Given the description of an element on the screen output the (x, y) to click on. 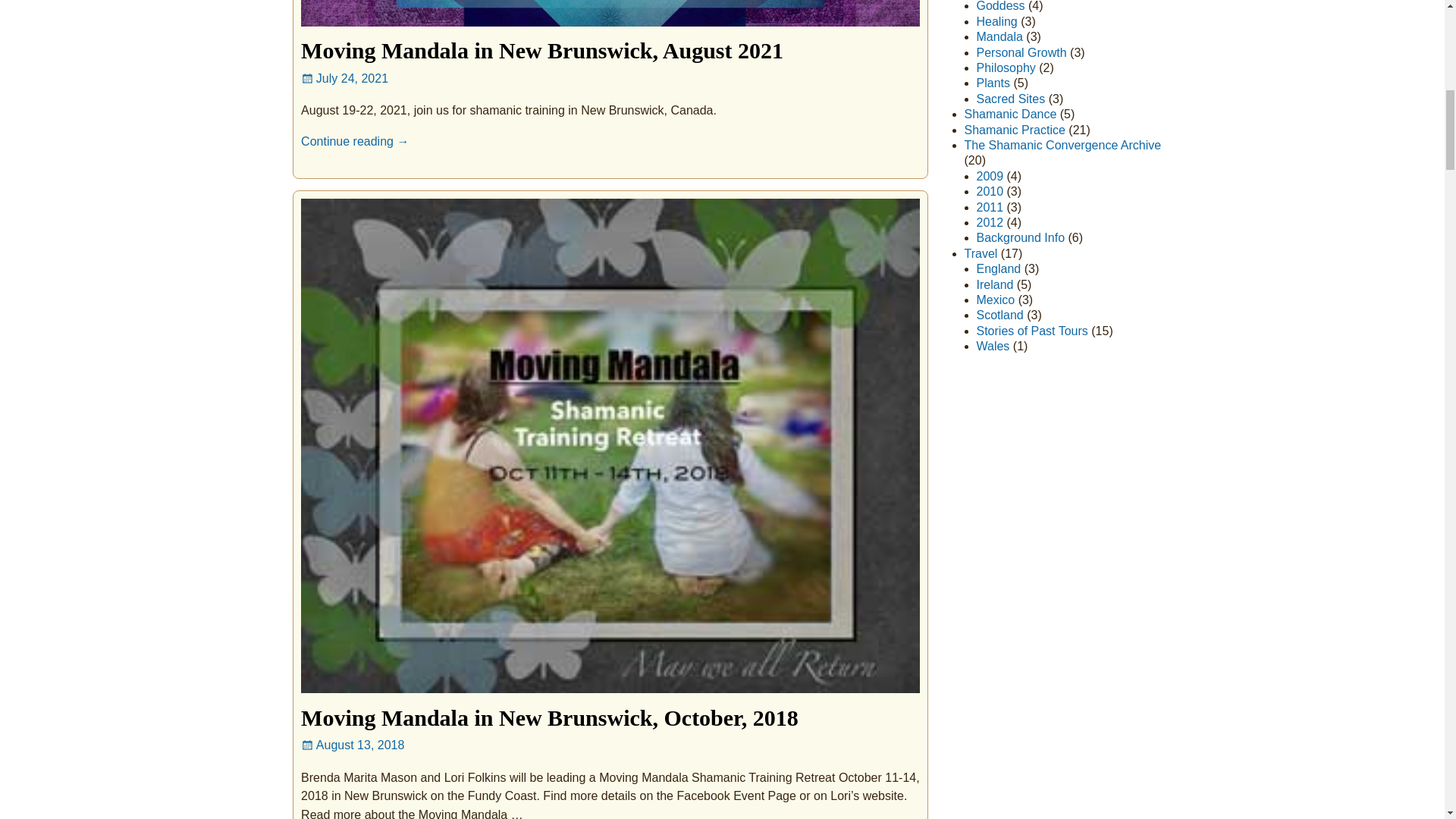
Permalink to Moving Mandala in New Brunswick, October, 2018 (549, 717)
1:41 pm (352, 744)
July 24, 2021 (344, 78)
August 13, 2018 (352, 744)
Permalink to Moving Mandala in New Brunswick, August 2021 (542, 50)
9:18 pm (344, 78)
Moving Mandala in New Brunswick, October, 2018 (549, 717)
Moving Mandala in New Brunswick, August 2021 (542, 50)
